Given the description of an element on the screen output the (x, y) to click on. 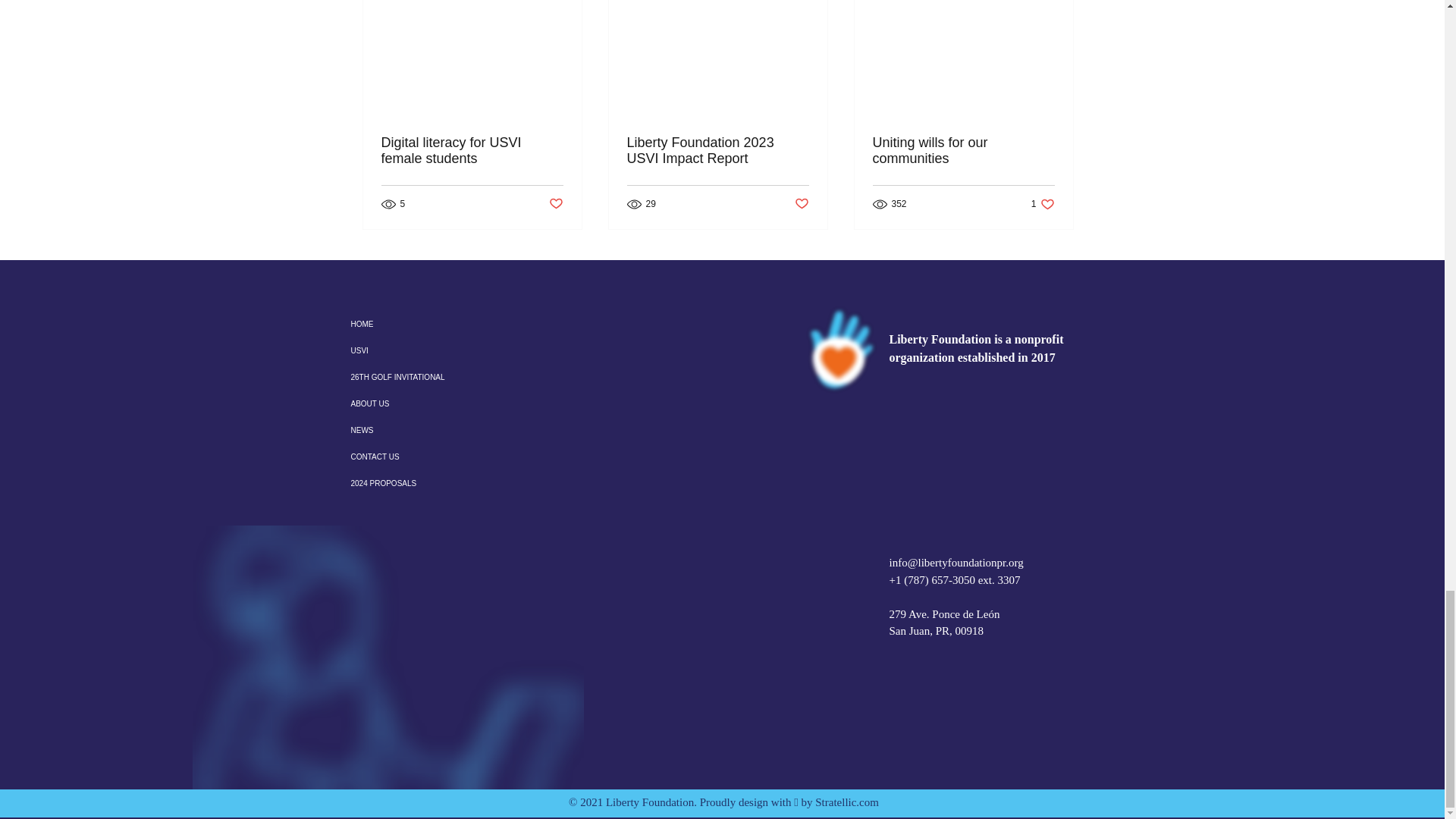
Post not marked as liked (555, 204)
HOME (416, 324)
Digital literacy for USVI female students (471, 151)
2024 PROPOSALS (416, 483)
Uniting wills for our communities (963, 151)
NEWS (416, 429)
ABOUT US (416, 403)
USVI (416, 350)
Liberty Foundation 2023 USVI Impact Report (717, 151)
Post not marked as liked (801, 204)
CONTACT US (1042, 203)
26TH GOLF INVITATIONAL (416, 456)
